Given the description of an element on the screen output the (x, y) to click on. 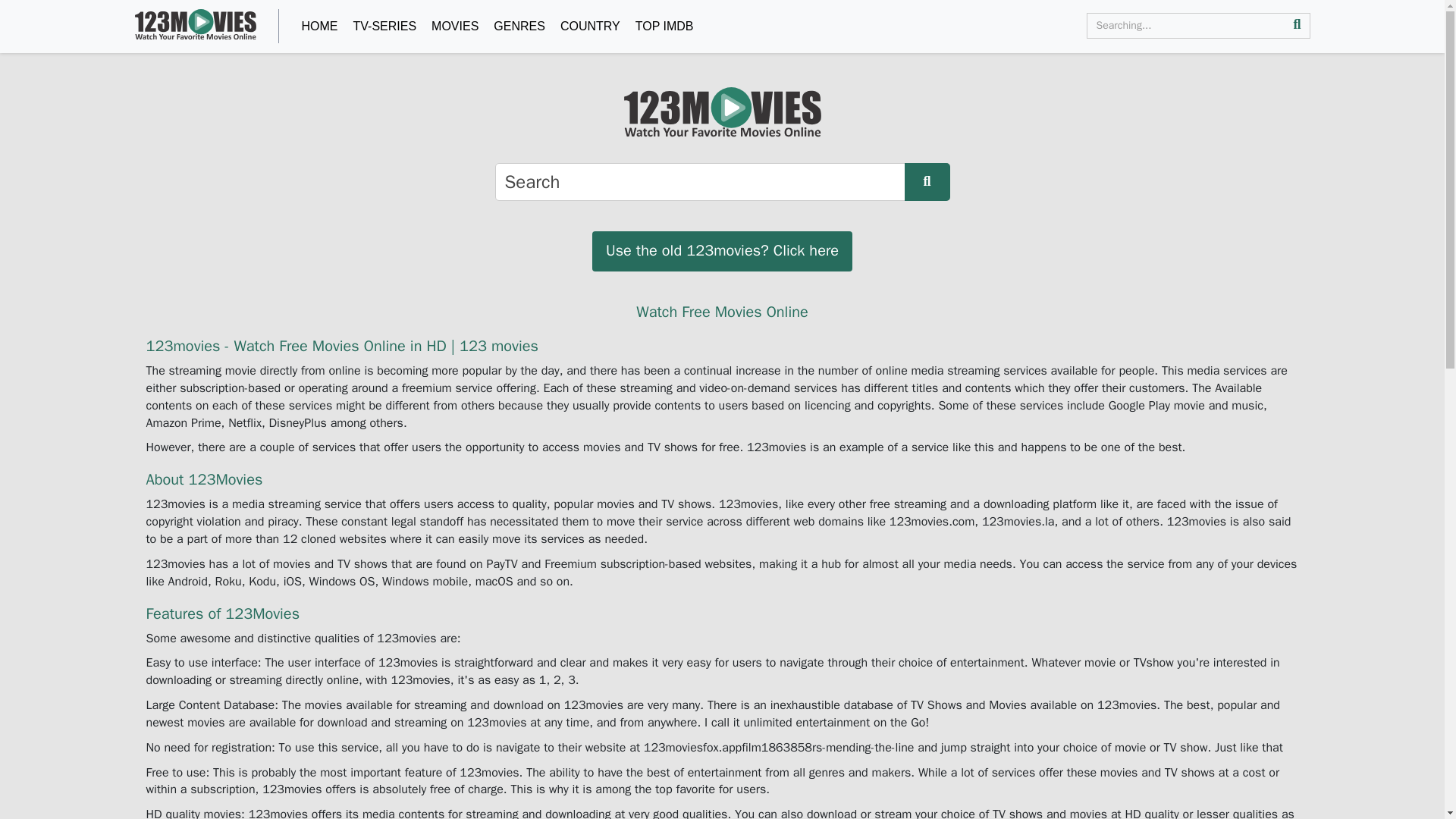
COUNTRY (590, 26)
123movies (195, 24)
MOVIES (454, 26)
Country (590, 26)
HOME (318, 26)
GENRES (518, 26)
Movies (454, 26)
TV-Series (384, 26)
TOP IMDB (664, 26)
Home (318, 26)
TV-SERIES (384, 26)
Genre (518, 26)
